Given the description of an element on the screen output the (x, y) to click on. 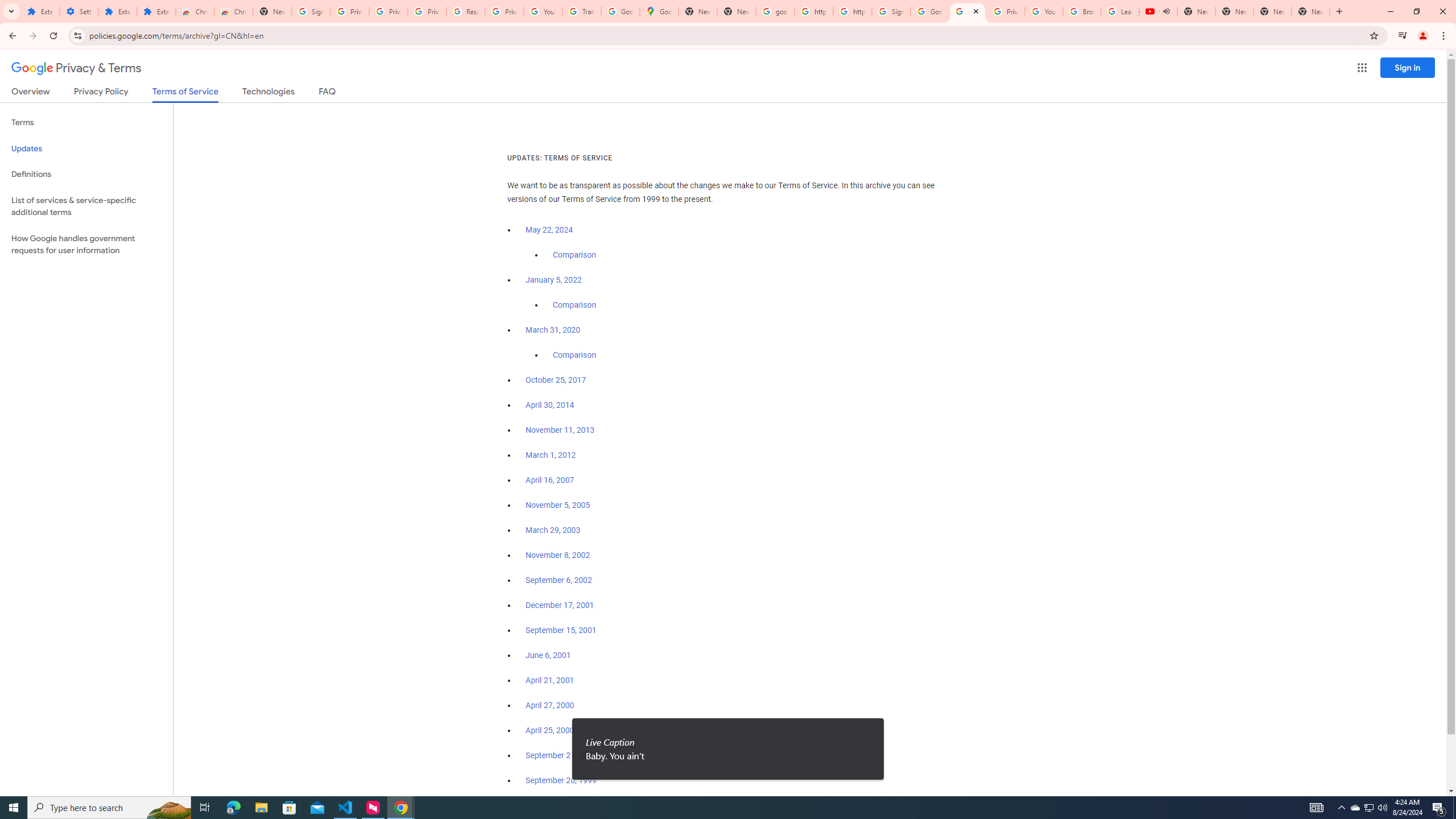
April 21, 2001 (550, 679)
